Given the description of an element on the screen output the (x, y) to click on. 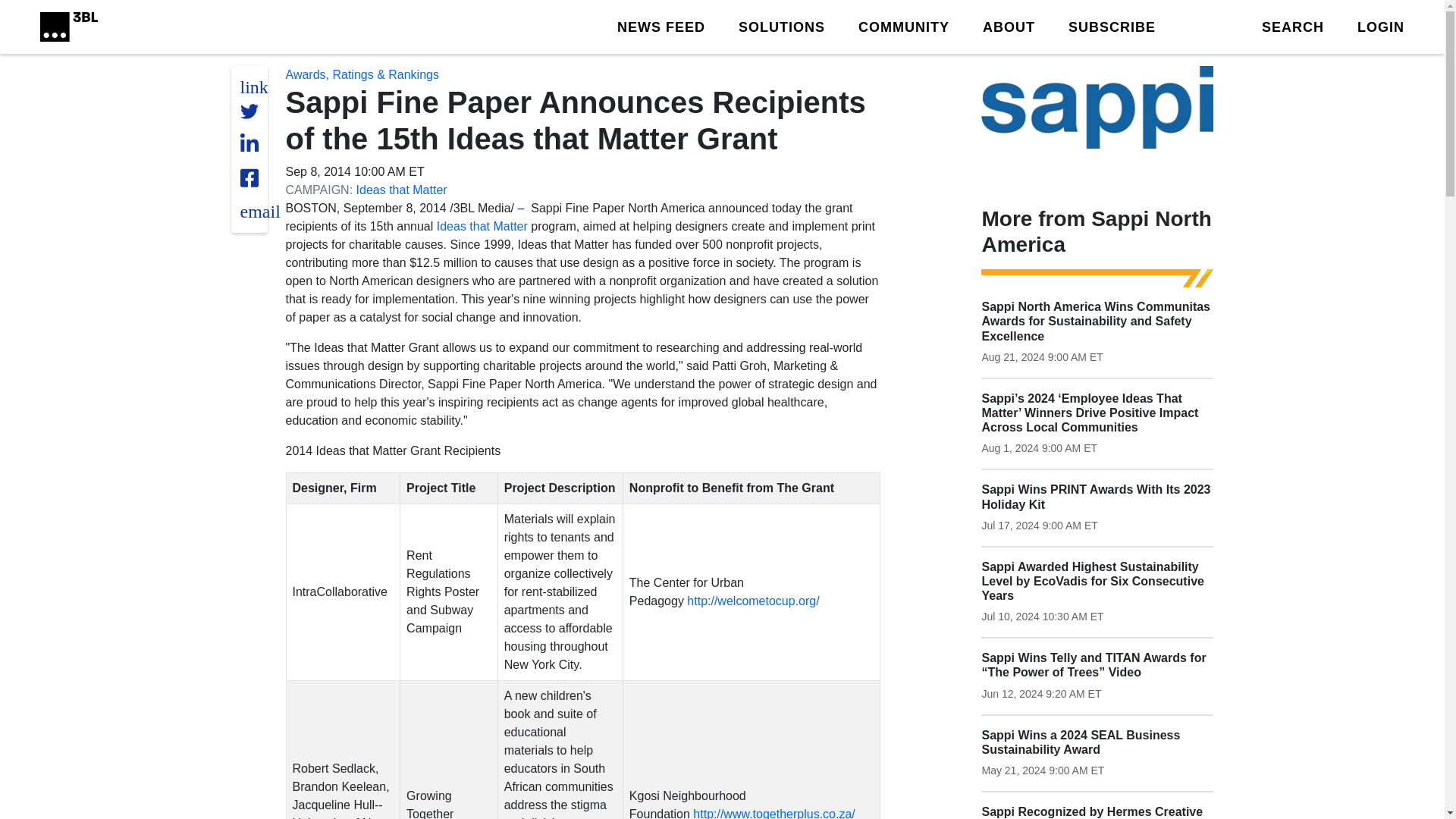
COMMUNITY (904, 26)
SUBSCRIBE (1112, 26)
SOLUTIONS (781, 26)
Share via email (259, 211)
NEWS FEED (660, 26)
ABOUT (1008, 26)
link to 3 B L Media's Twitter (253, 87)
